Given the description of an element on the screen output the (x, y) to click on. 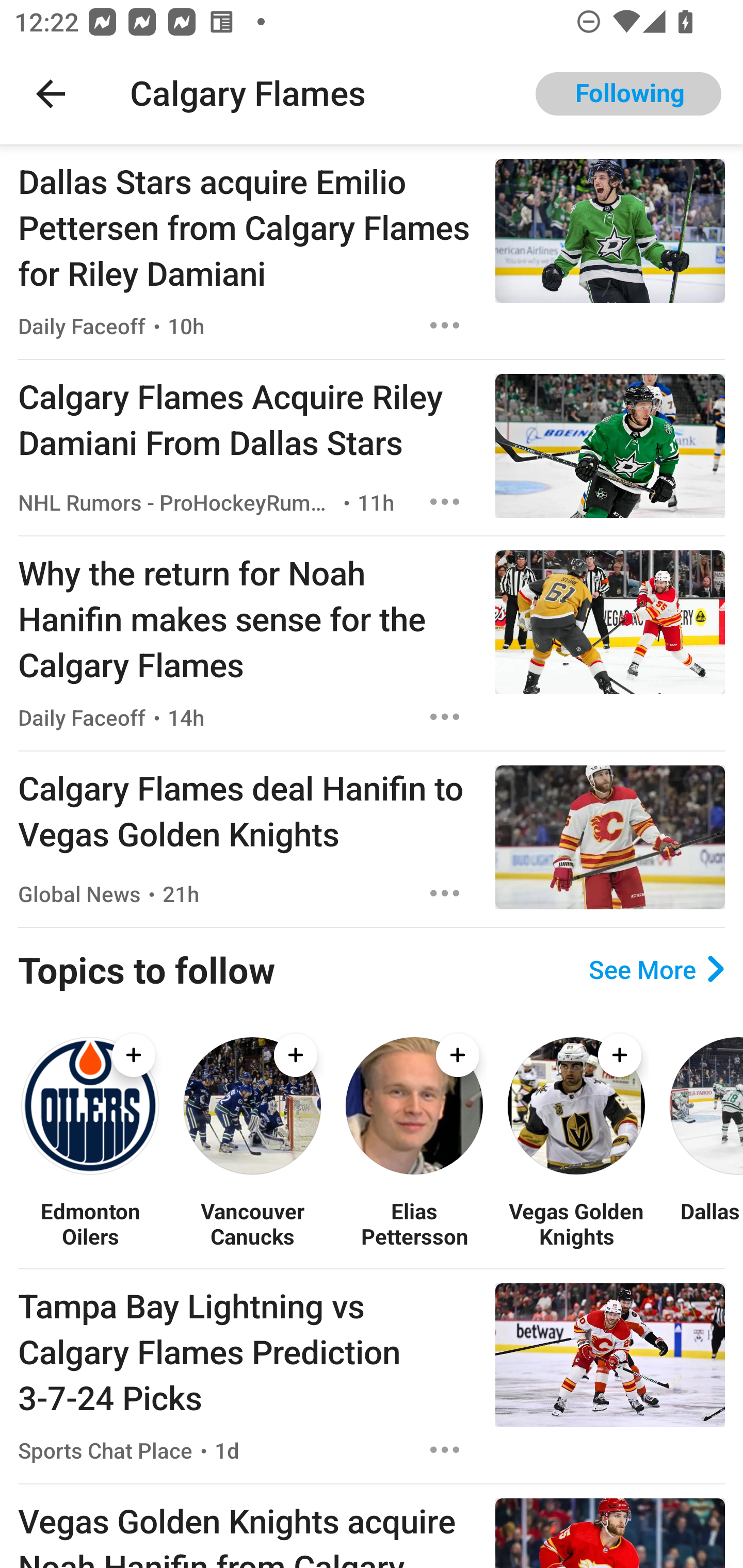
Navigate up (50, 93)
Following (628, 94)
Options (444, 325)
Options (444, 501)
Options (444, 716)
Options (444, 893)
See More (656, 968)
Edmonton Oilers (89, 1223)
Vancouver Canucks (251, 1223)
Elias Pettersson (413, 1223)
Vegas Golden Knights (575, 1223)
Options (444, 1449)
